Given the description of an element on the screen output the (x, y) to click on. 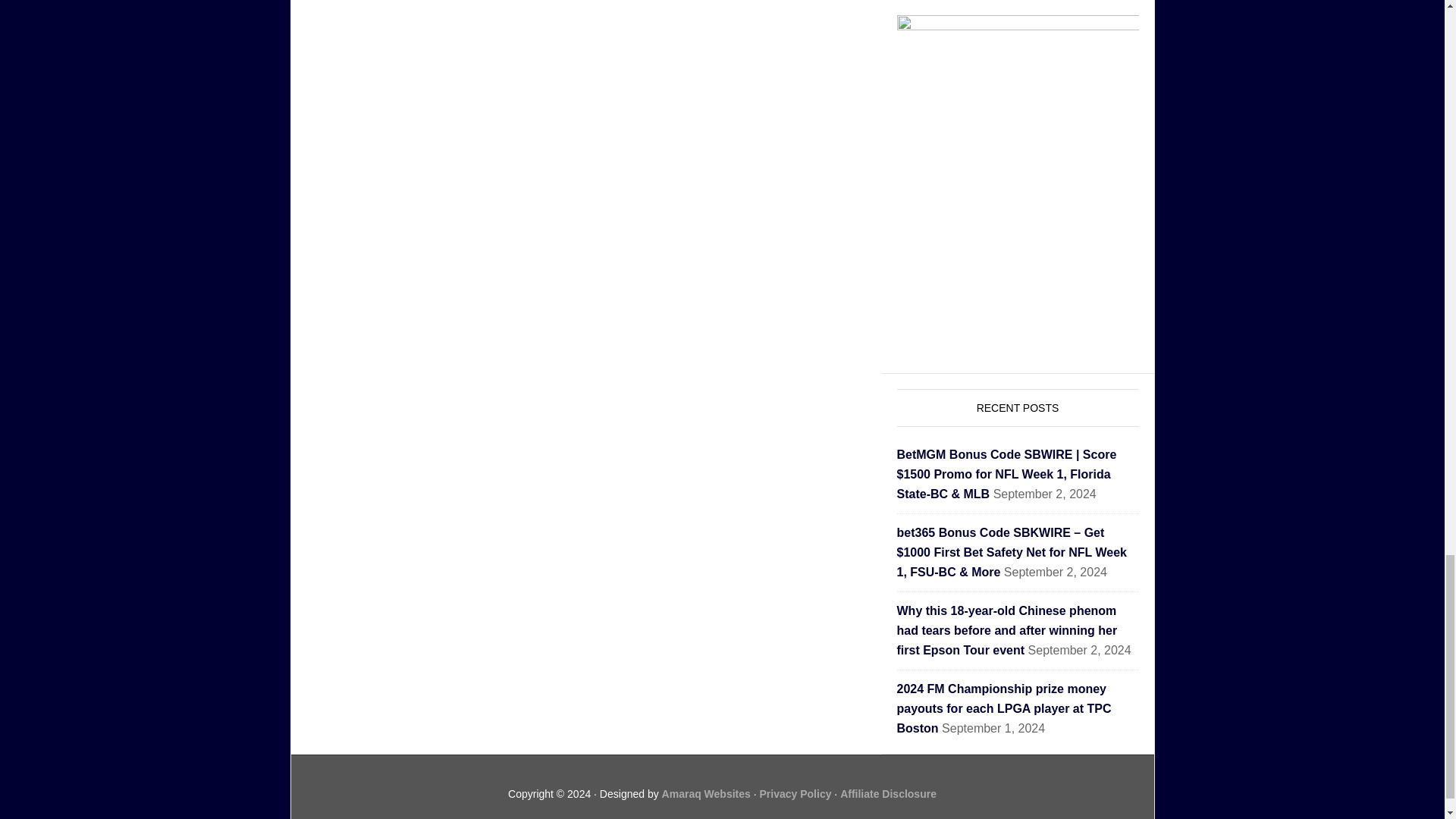
Affiliate Disclosure (888, 793)
Privacy Policy (795, 793)
Affiliate Disclosure (888, 793)
Amaraq Websites (706, 793)
Amaraq Websites (706, 793)
Privacy Policy (795, 793)
